Given the description of an element on the screen output the (x, y) to click on. 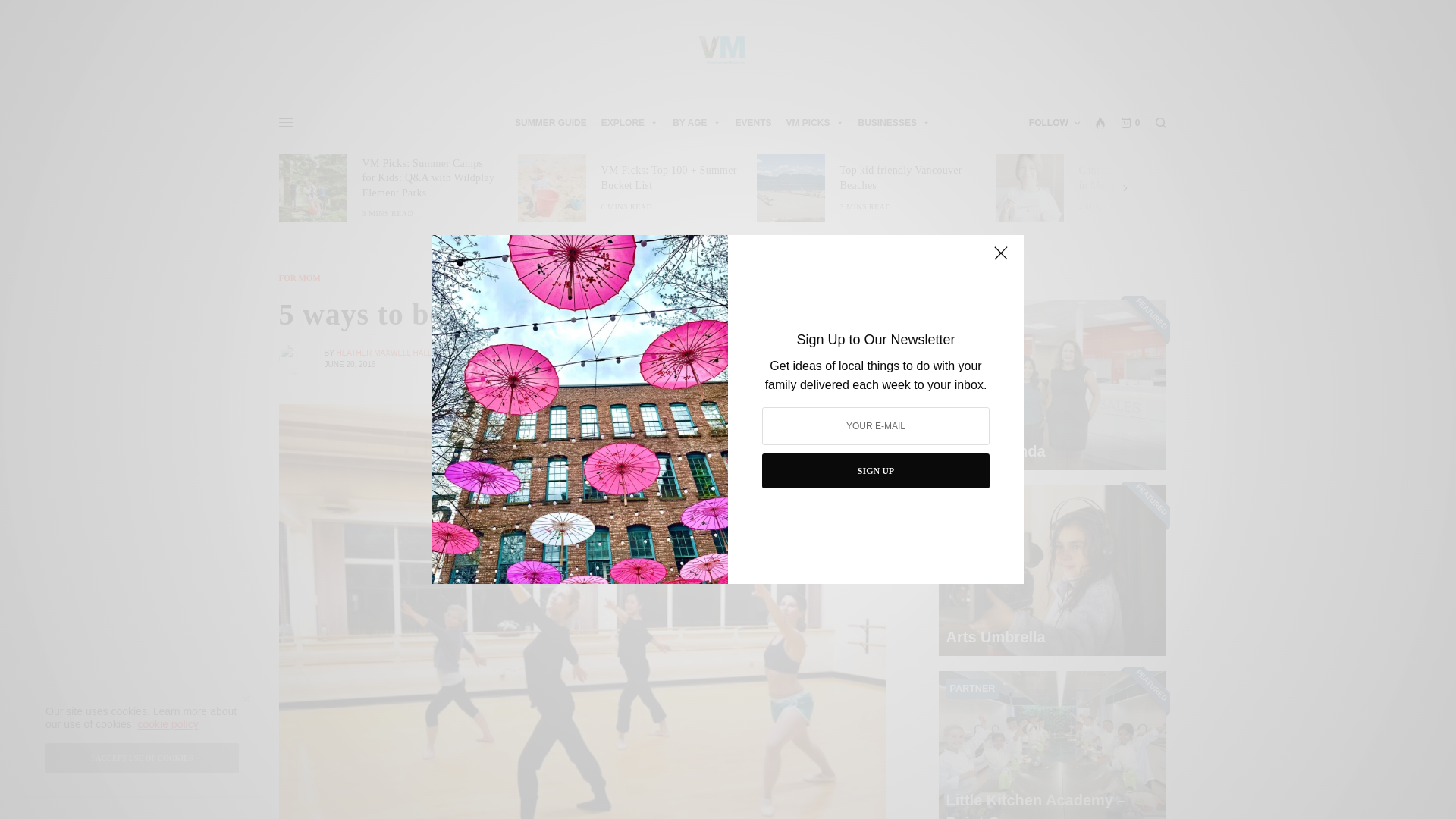
SUMMER GUIDE (549, 122)
EXPLORE (628, 122)
Vancouver Mom (721, 49)
Canada Day Events for FREE in Metro Vancouver (1146, 177)
Top kid friendly Vancouver Beaches (908, 177)
SIGN UP (875, 470)
BY AGE (695, 122)
